Given the description of an element on the screen output the (x, y) to click on. 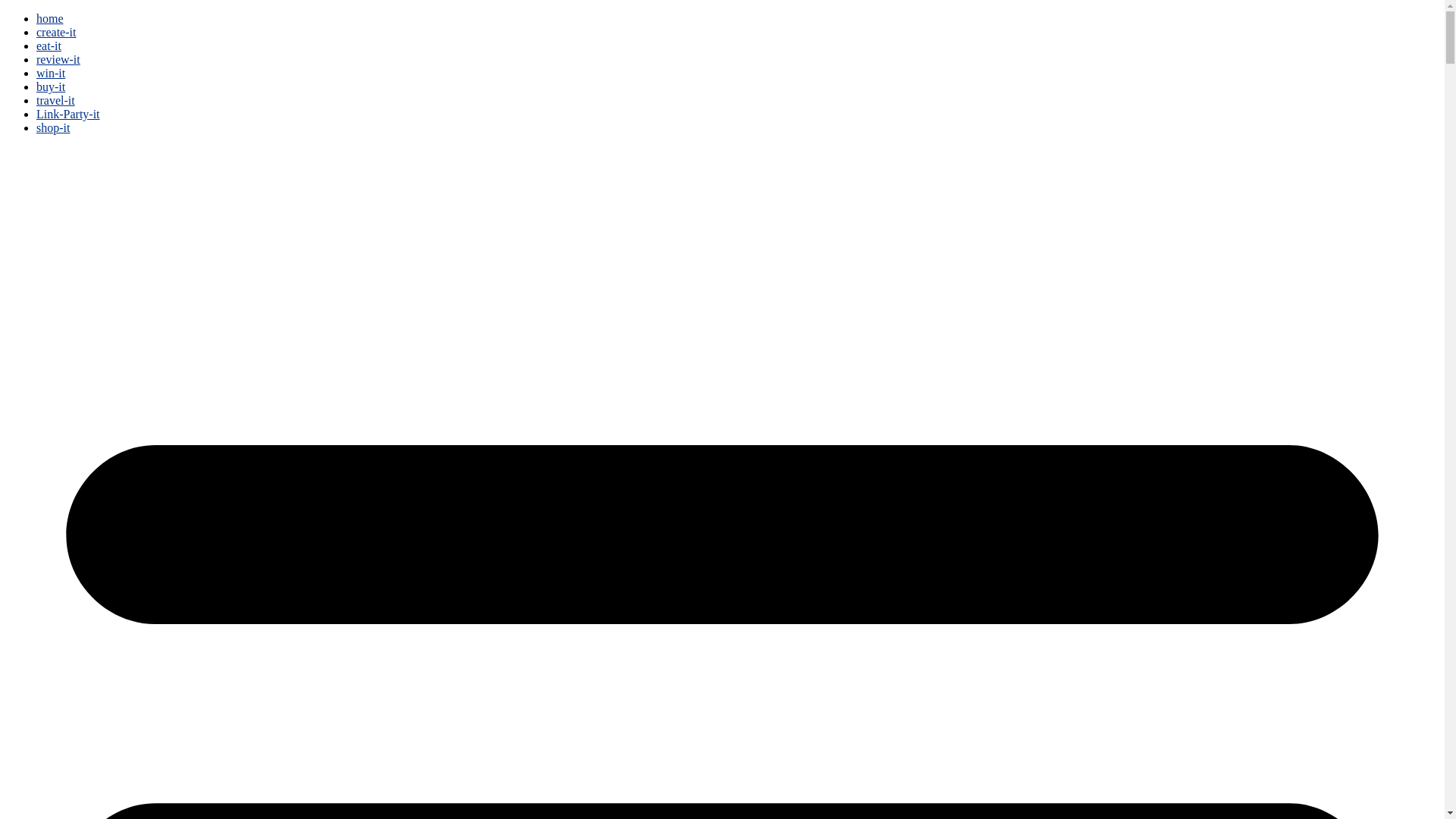
win-it (50, 72)
eat-it (48, 45)
shop-it (52, 127)
travel-it (55, 100)
home (50, 18)
Link-Party-it (68, 113)
buy-it (50, 86)
review-it (58, 59)
create-it (55, 31)
